Given the description of an element on the screen output the (x, y) to click on. 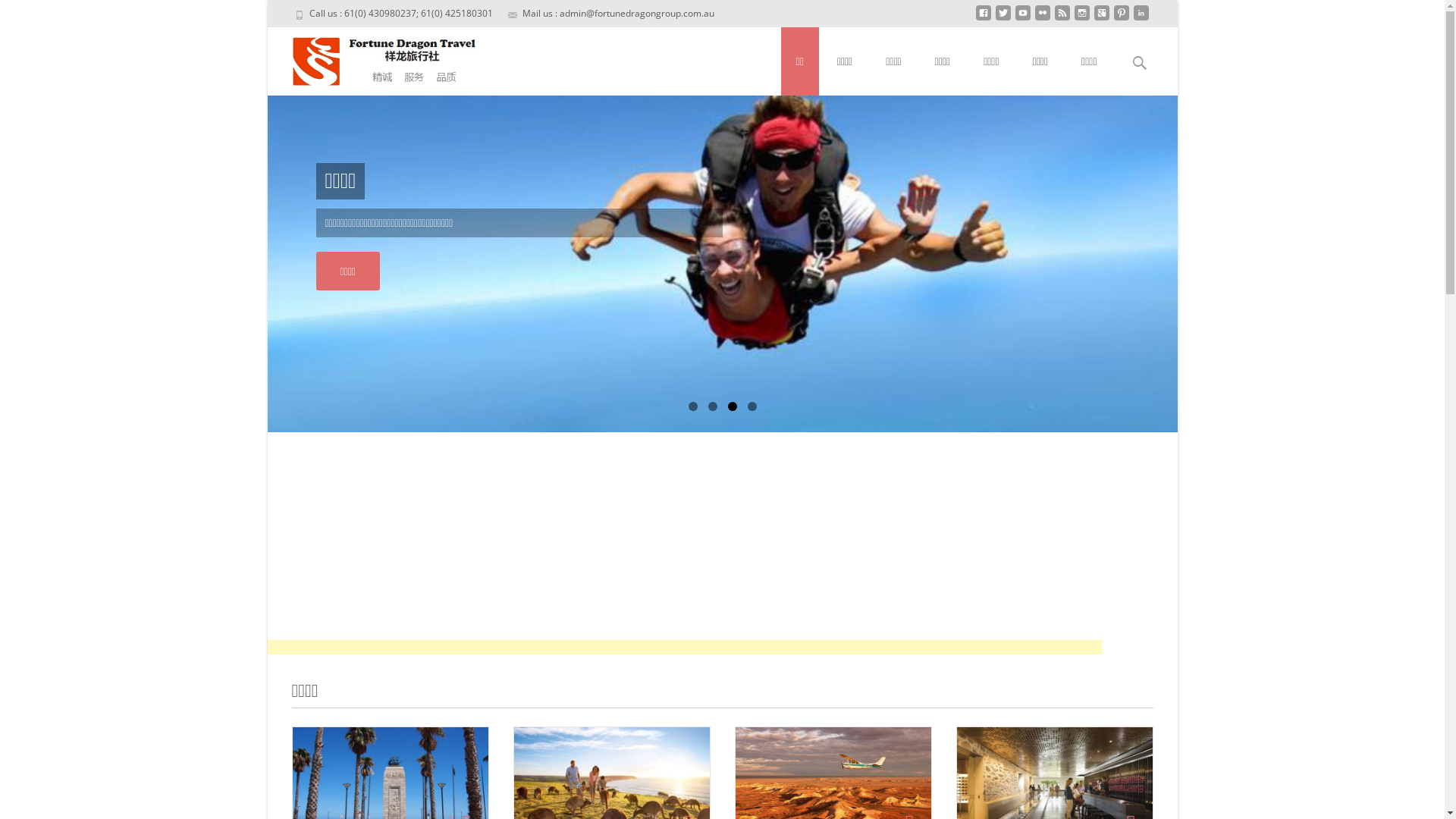
flickr Element type: hover (1041, 18)
pinterest Element type: hover (1120, 18)
Skip to content Element type: text (818, 36)
linkedin Element type: hover (1140, 18)
googleplus Element type: hover (1100, 18)
instagram Element type: hover (1080, 18)
feed Element type: hover (1061, 18)
youtube Element type: hover (1021, 18)
twitter Element type: hover (1002, 18)
facebook Element type: hover (982, 18)
